Given the description of an element on the screen output the (x, y) to click on. 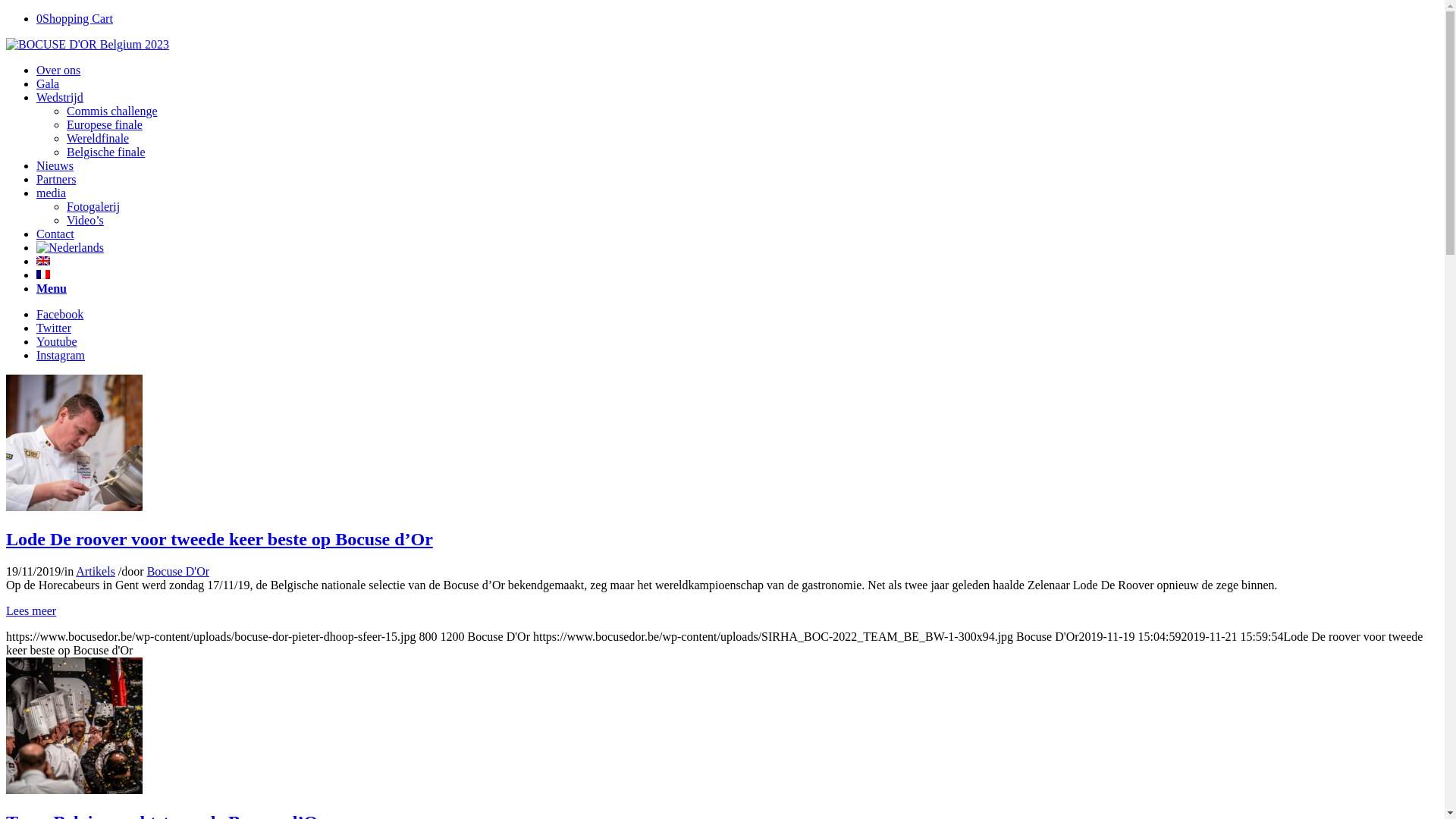
Twitter Element type: text (53, 327)
English Element type: hover (43, 260)
Fotogalerij Element type: text (92, 206)
Wereldfinale Element type: text (97, 137)
Belgische finale Element type: text (105, 151)
Menu Element type: text (51, 288)
Nederlands Element type: hover (69, 247)
media Element type: text (50, 192)
Gala Element type: text (47, 83)
Youtube Element type: text (56, 341)
Partners Element type: text (55, 178)
Lees meer Element type: text (31, 610)
Artikels Element type: text (95, 570)
Wedstrijd Element type: text (59, 97)
Facebook Element type: text (59, 313)
Bocuse D'Or Element type: text (178, 570)
Nieuws Element type: text (54, 165)
Instagram Element type: text (60, 354)
Over ons Element type: text (58, 69)
Commis challenge Element type: text (111, 110)
Europese finale Element type: text (104, 124)
0Shopping Cart Element type: text (74, 18)
Contact Element type: text (55, 233)
